Given the description of an element on the screen output the (x, y) to click on. 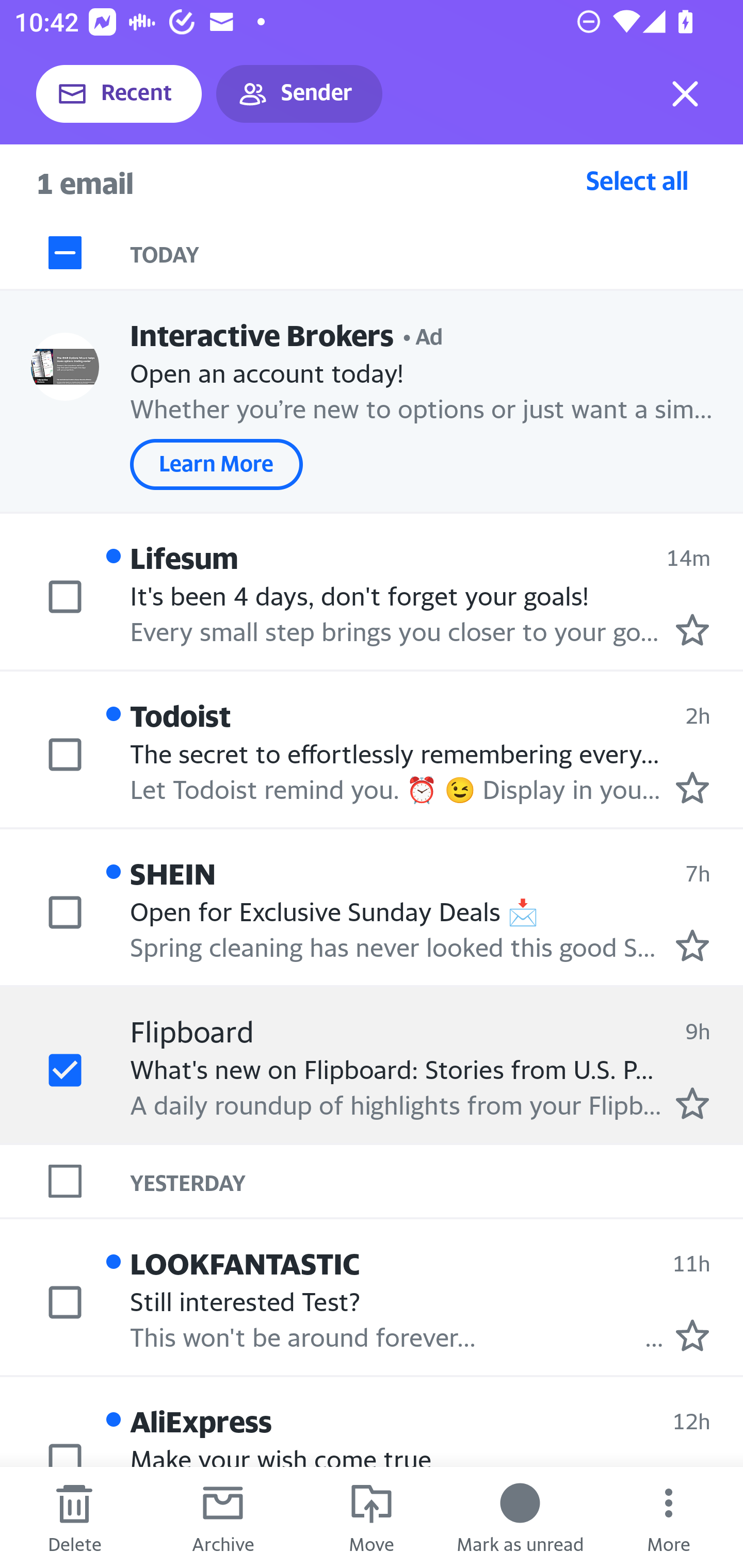
Sender (299, 93)
Exit selection mode (684, 93)
Select all (637, 180)
TODAY (436, 252)
Mark as starred. (692, 629)
Mark as starred. (692, 787)
Mark as starred. (692, 944)
Mark as starred. (692, 1103)
YESTERDAY (436, 1181)
Mark as starred. (692, 1335)
Delete (74, 1517)
Archive (222, 1517)
Move (371, 1517)
Mark as unread (519, 1517)
More (668, 1517)
